Given the description of an element on the screen output the (x, y) to click on. 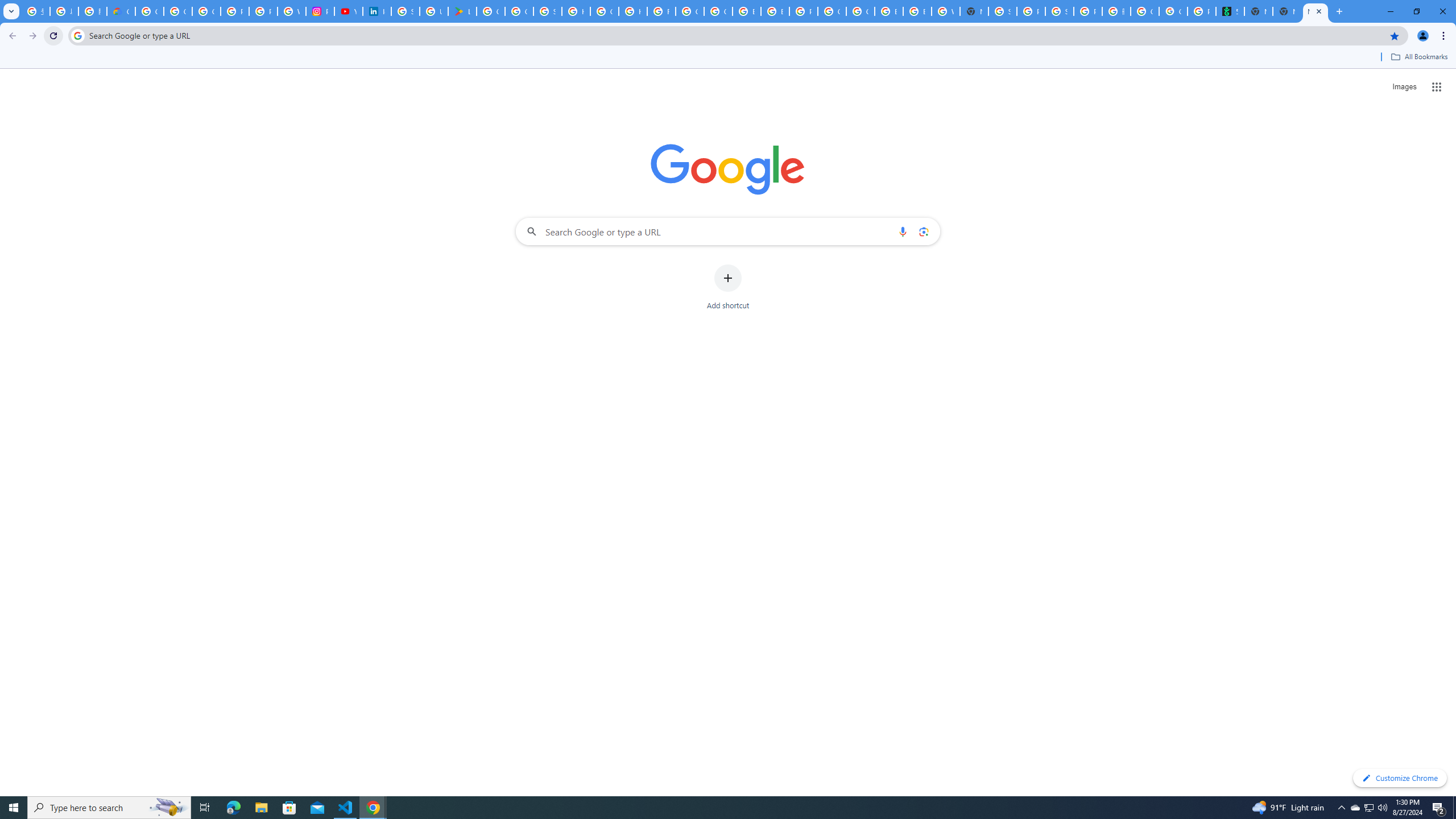
Bookmarks (728, 58)
Search Google or type a URL (727, 230)
Browse Chrome as a guest - Computer - Google Chrome Help (774, 11)
Search by voice (902, 230)
Search by image (922, 230)
YouTube Culture & Trends - On The Rise: Handcam Videos (348, 11)
Browse Chrome as a guest - Computer - Google Chrome Help (917, 11)
How do I create a new Google Account? - Google Account Help (632, 11)
